Given the description of an element on the screen output the (x, y) to click on. 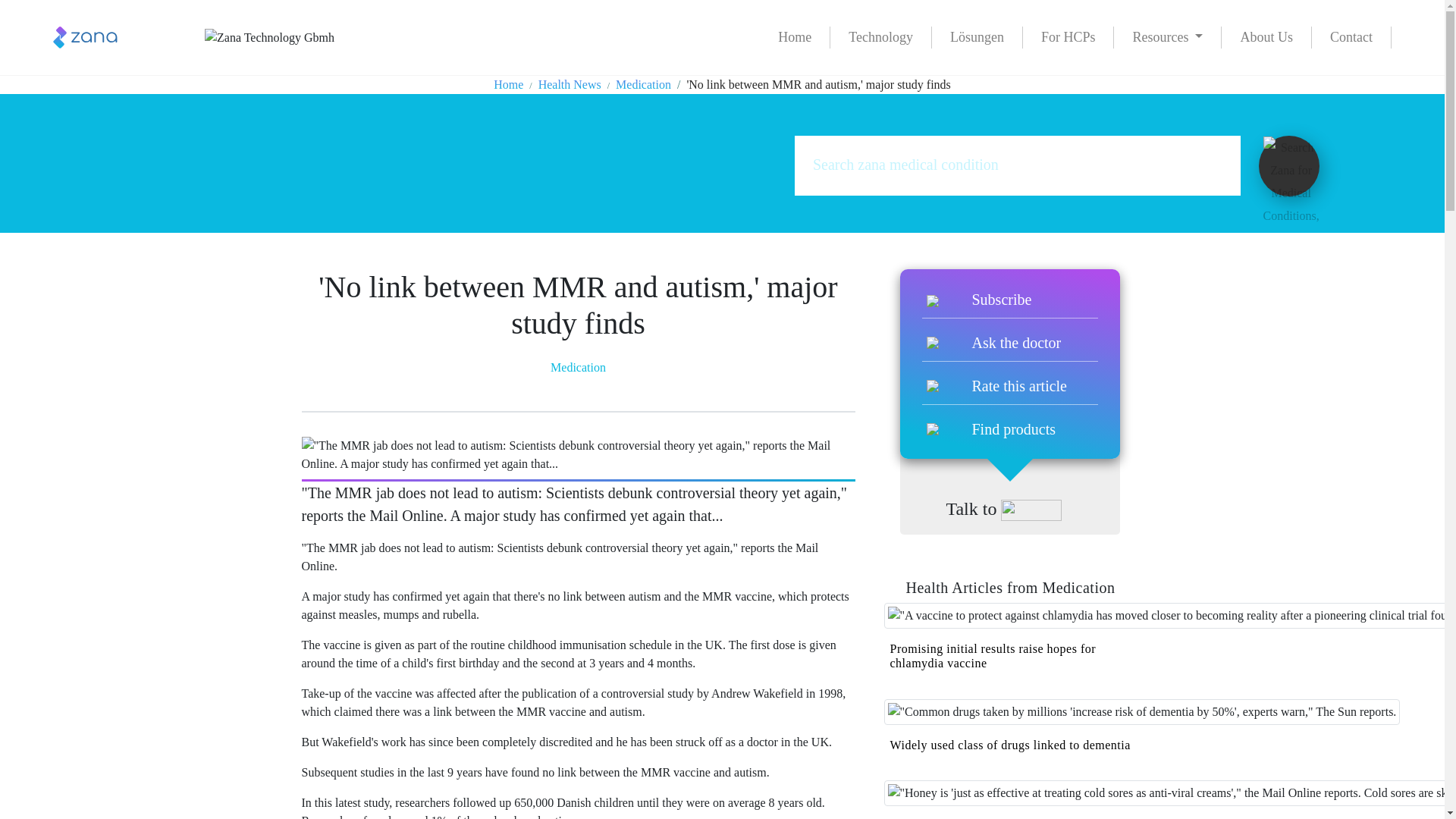
Health News (569, 83)
Home (794, 37)
Promising initial results raise hopes for chlamydia vaccine (992, 655)
About Us (1266, 37)
Technology (880, 37)
Home (507, 83)
Contact (1351, 37)
Widely used class of drugs linked to dementia (1010, 744)
Medication (577, 367)
Resources (1167, 37)
